Given the description of an element on the screen output the (x, y) to click on. 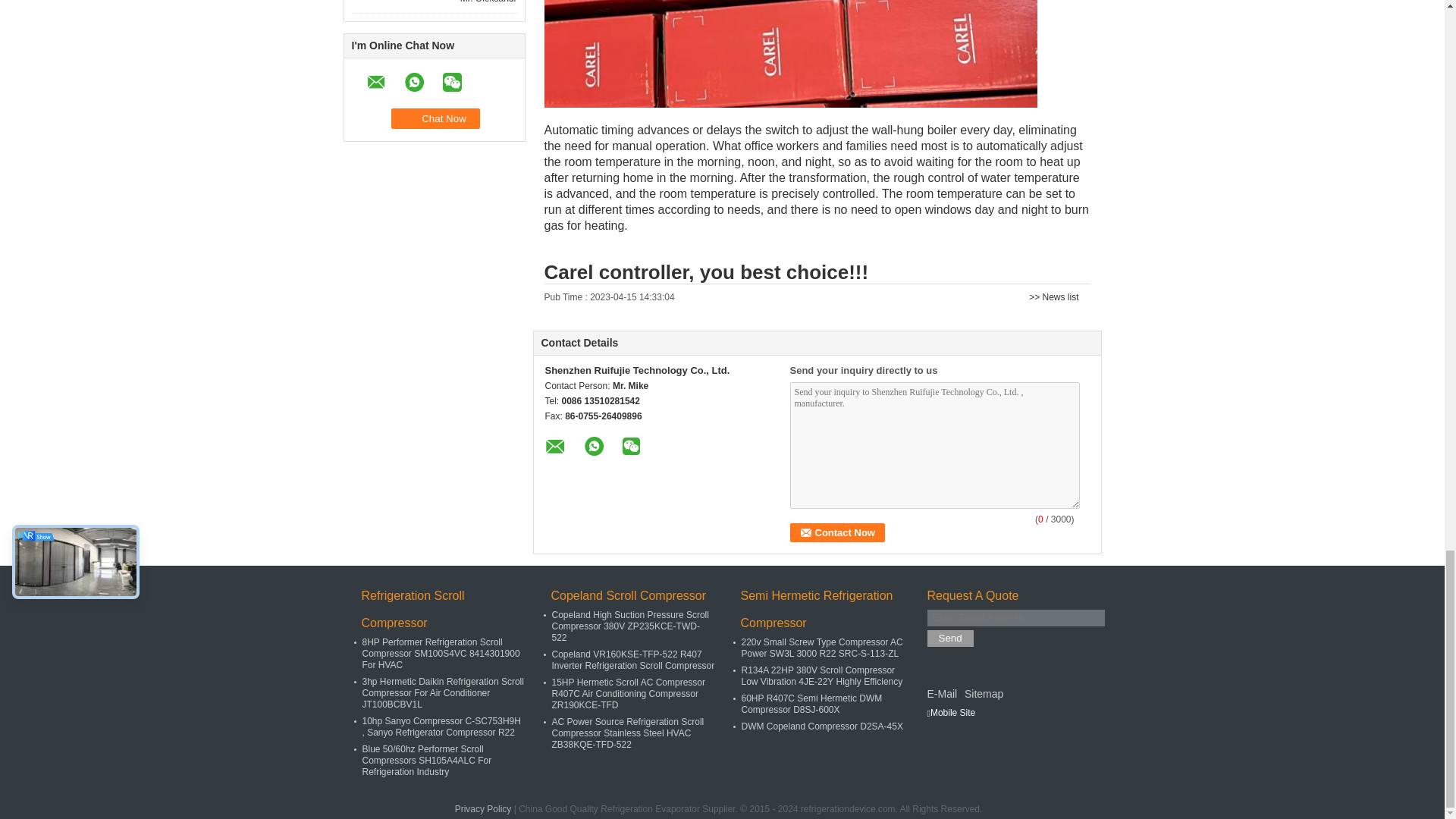
Contact Now (837, 532)
Chat Now (435, 118)
